Given the description of an element on the screen output the (x, y) to click on. 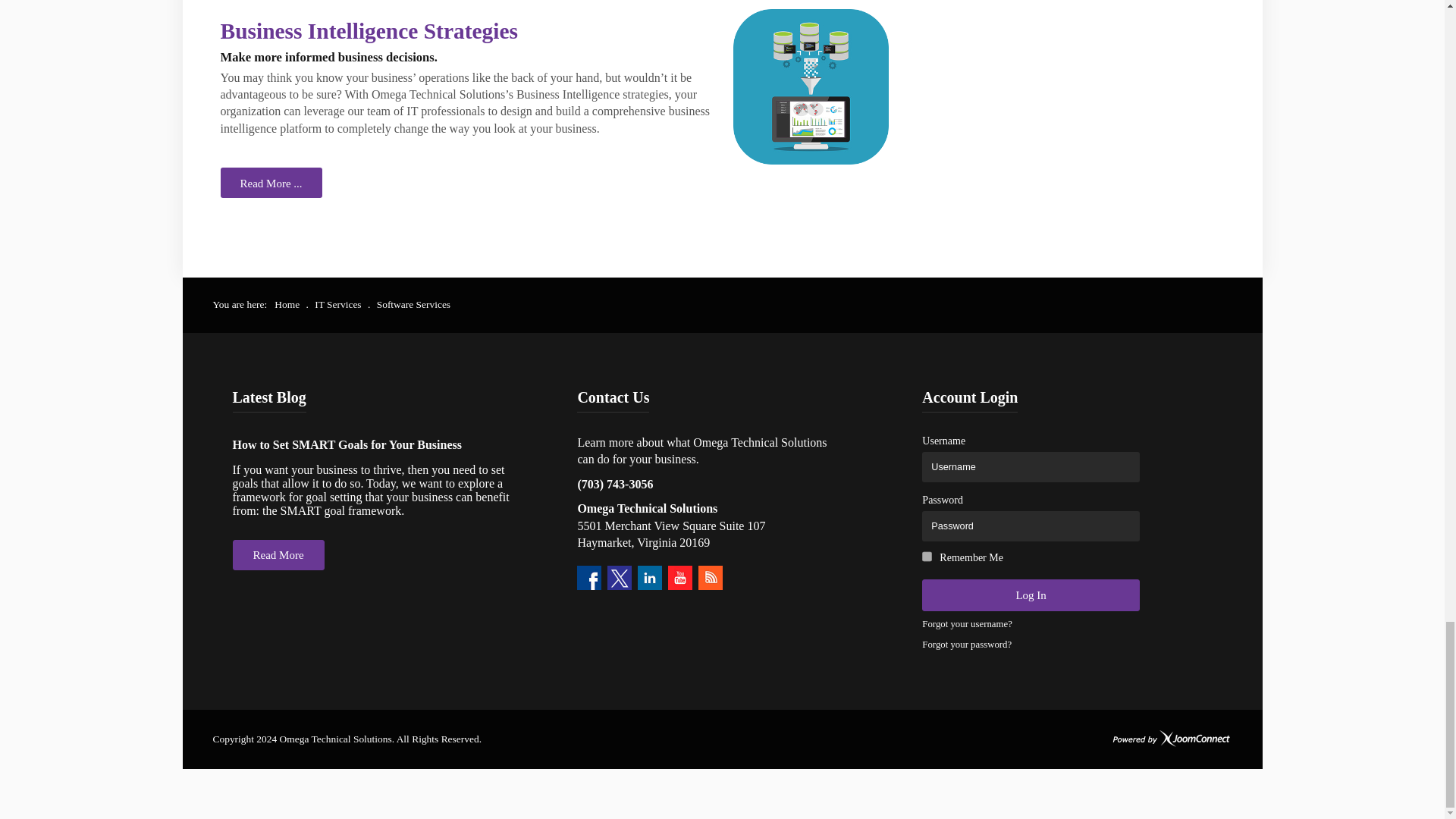
yes (926, 556)
